Given the description of an element on the screen output the (x, y) to click on. 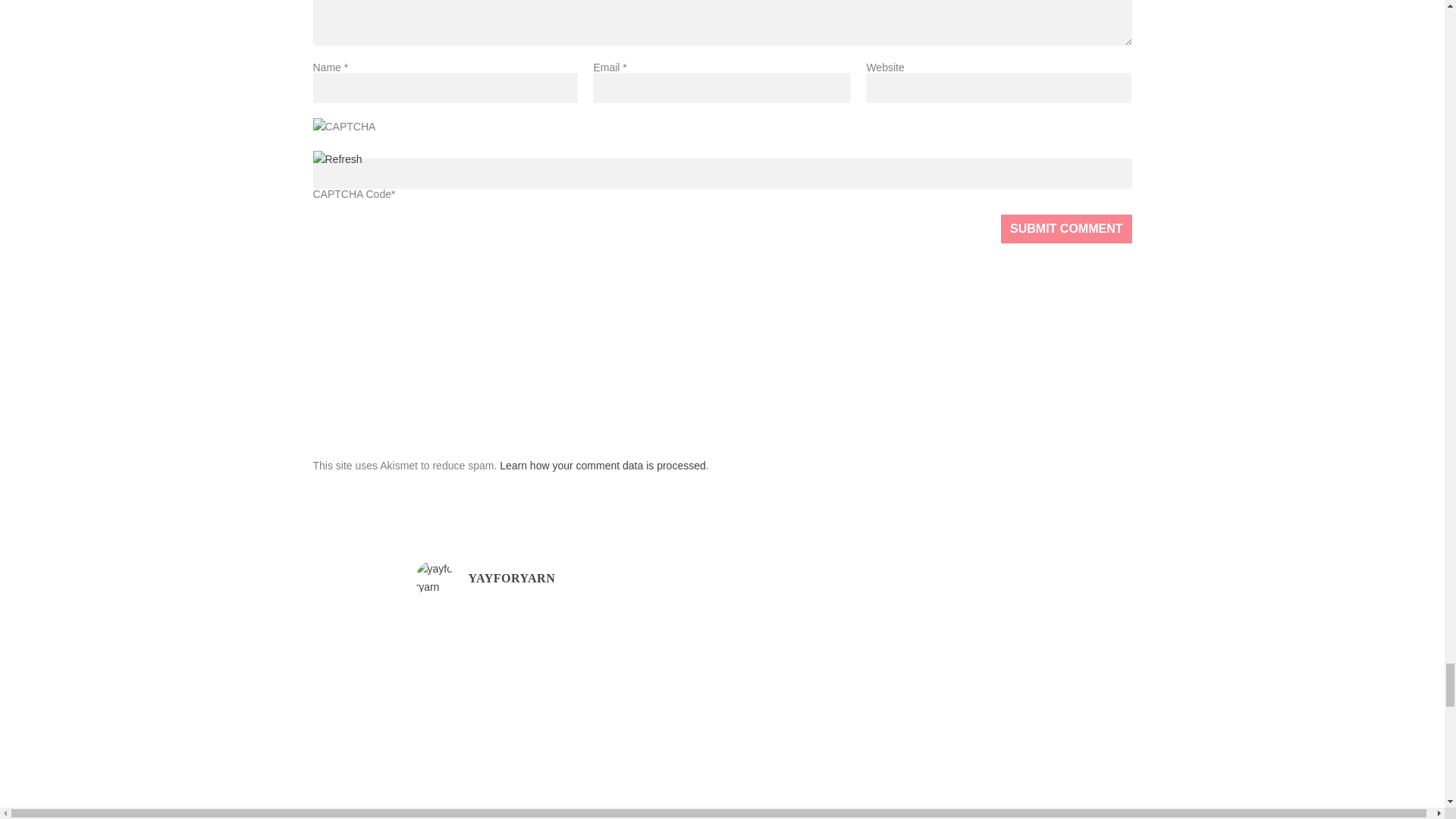
CAPTCHA (362, 133)
Refresh (337, 159)
